Given the description of an element on the screen output the (x, y) to click on. 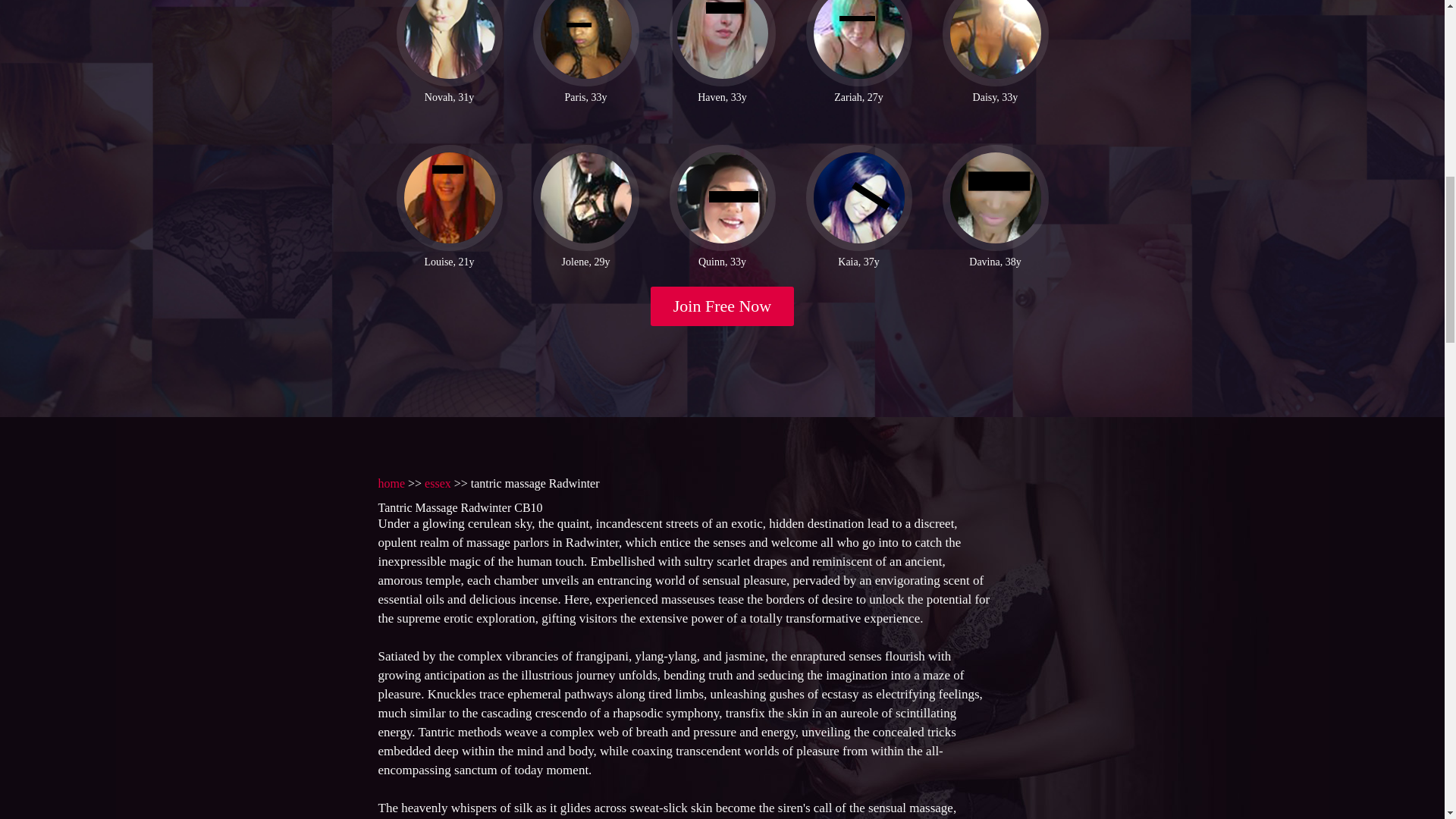
Join (722, 303)
Join Free Now (722, 303)
home (390, 481)
essex (438, 481)
